Given the description of an element on the screen output the (x, y) to click on. 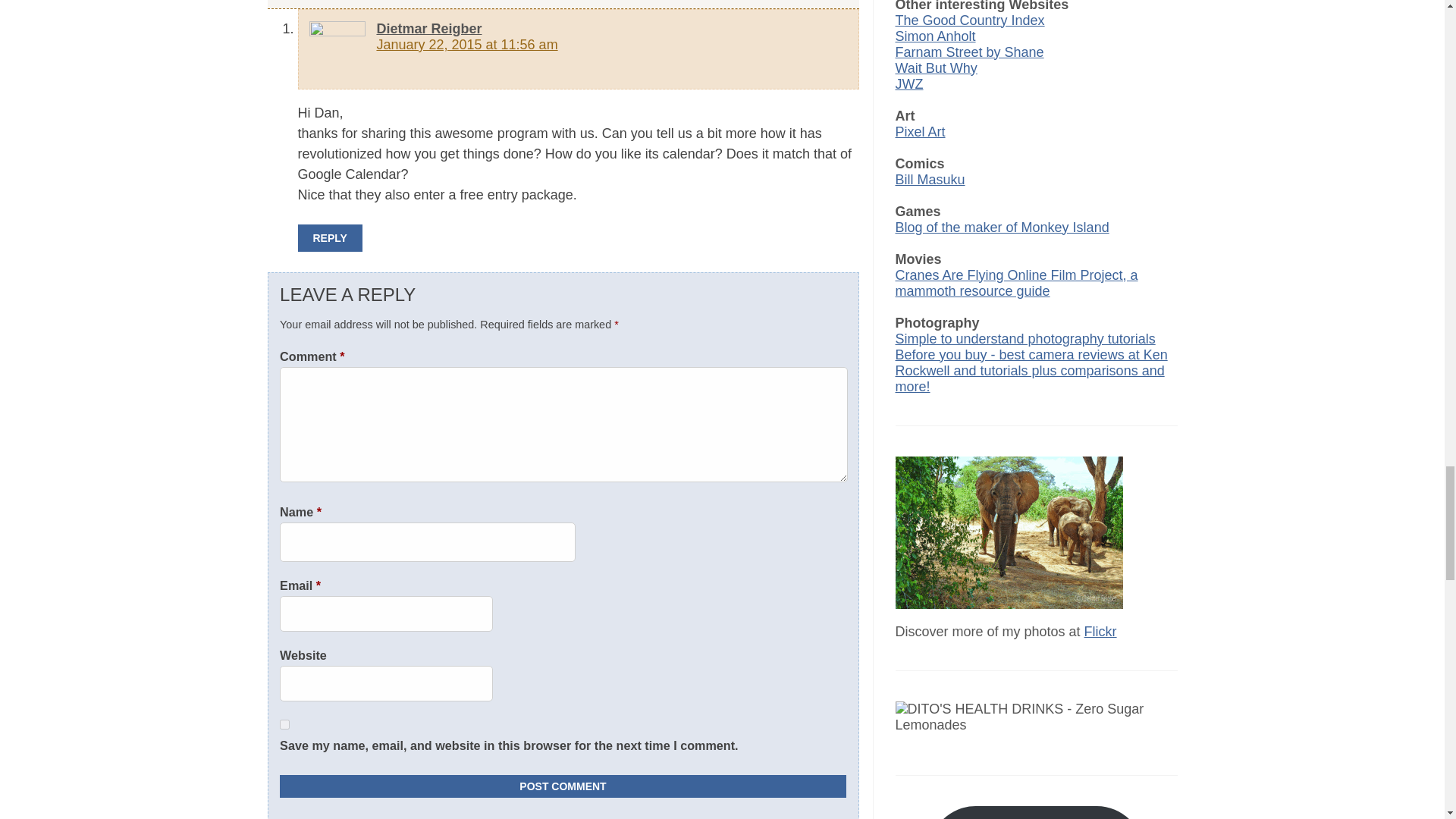
yes (284, 724)
Post Comment (562, 785)
